Given the description of an element on the screen output the (x, y) to click on. 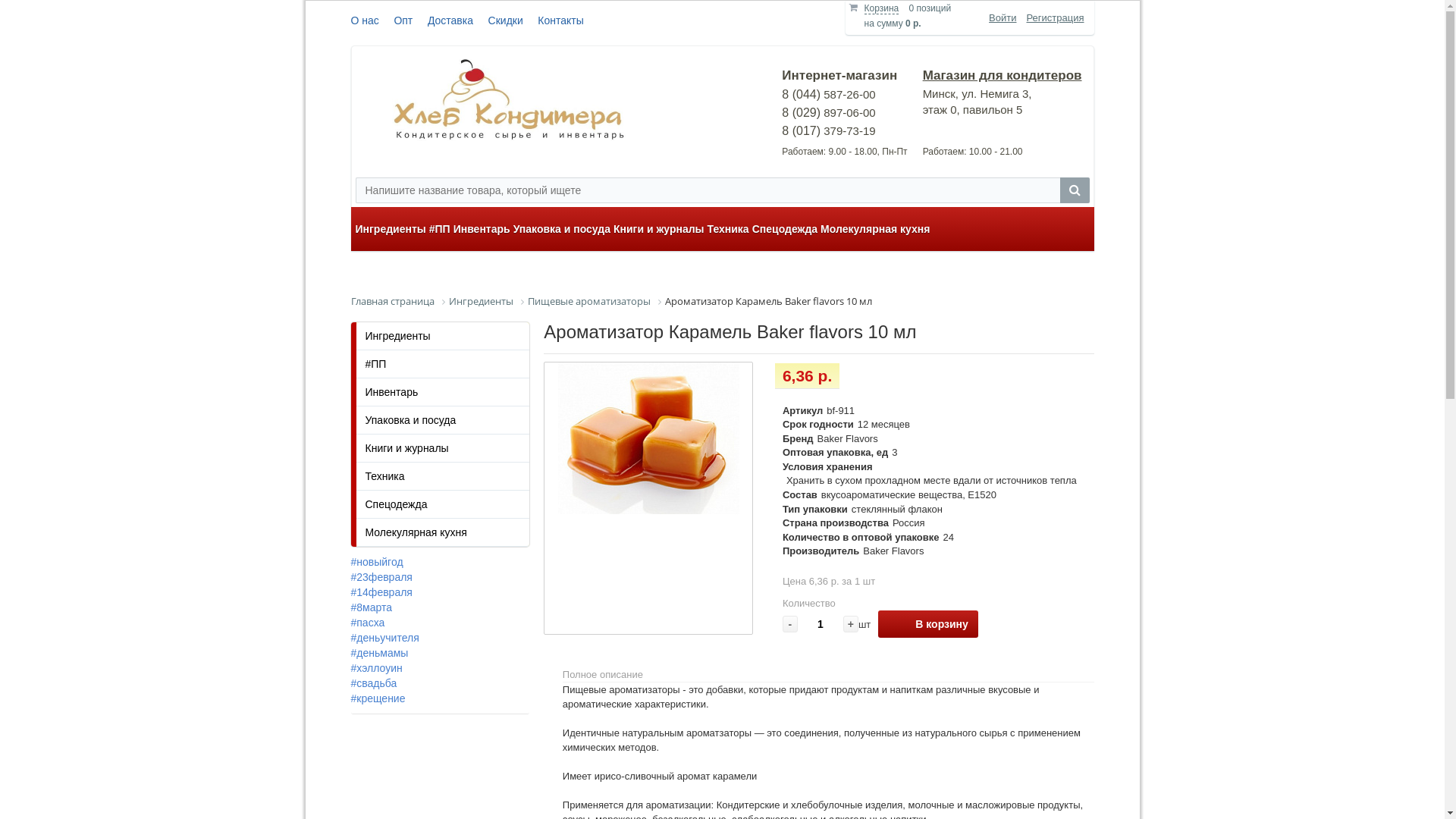
+ Element type: text (850, 623)
logo-hleb-conditera Element type: hover (506, 100)
- Element type: text (789, 623)
8 (044) 587-26-00
8 (029) 897-06-00
8 (017) 379-73-19 Element type: text (828, 112)
